Given the description of an element on the screen output the (x, y) to click on. 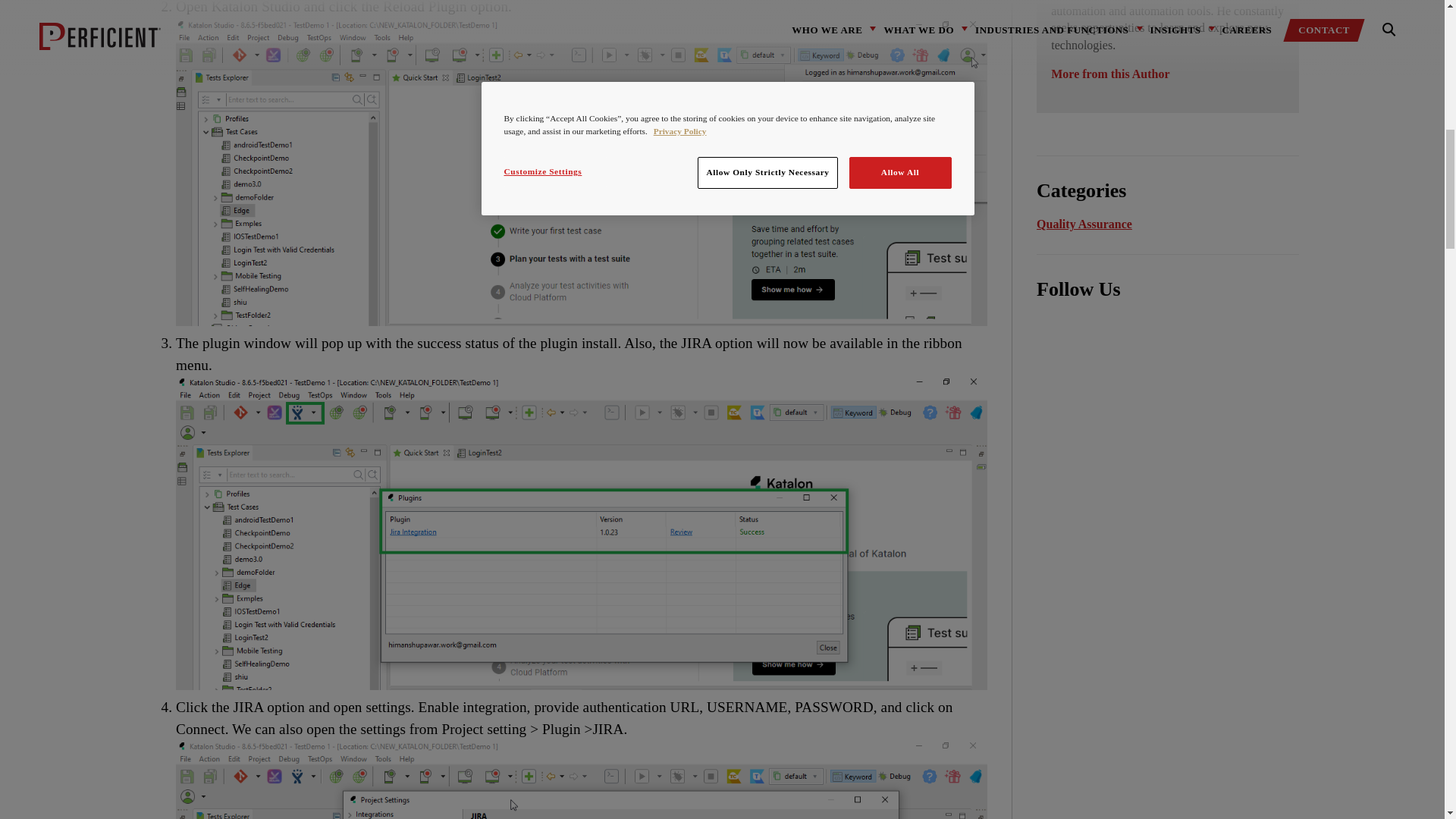
Himanshu Pawar (1110, 73)
Quality Assurance (1084, 223)
More from this Author (1110, 73)
